Given the description of an element on the screen output the (x, y) to click on. 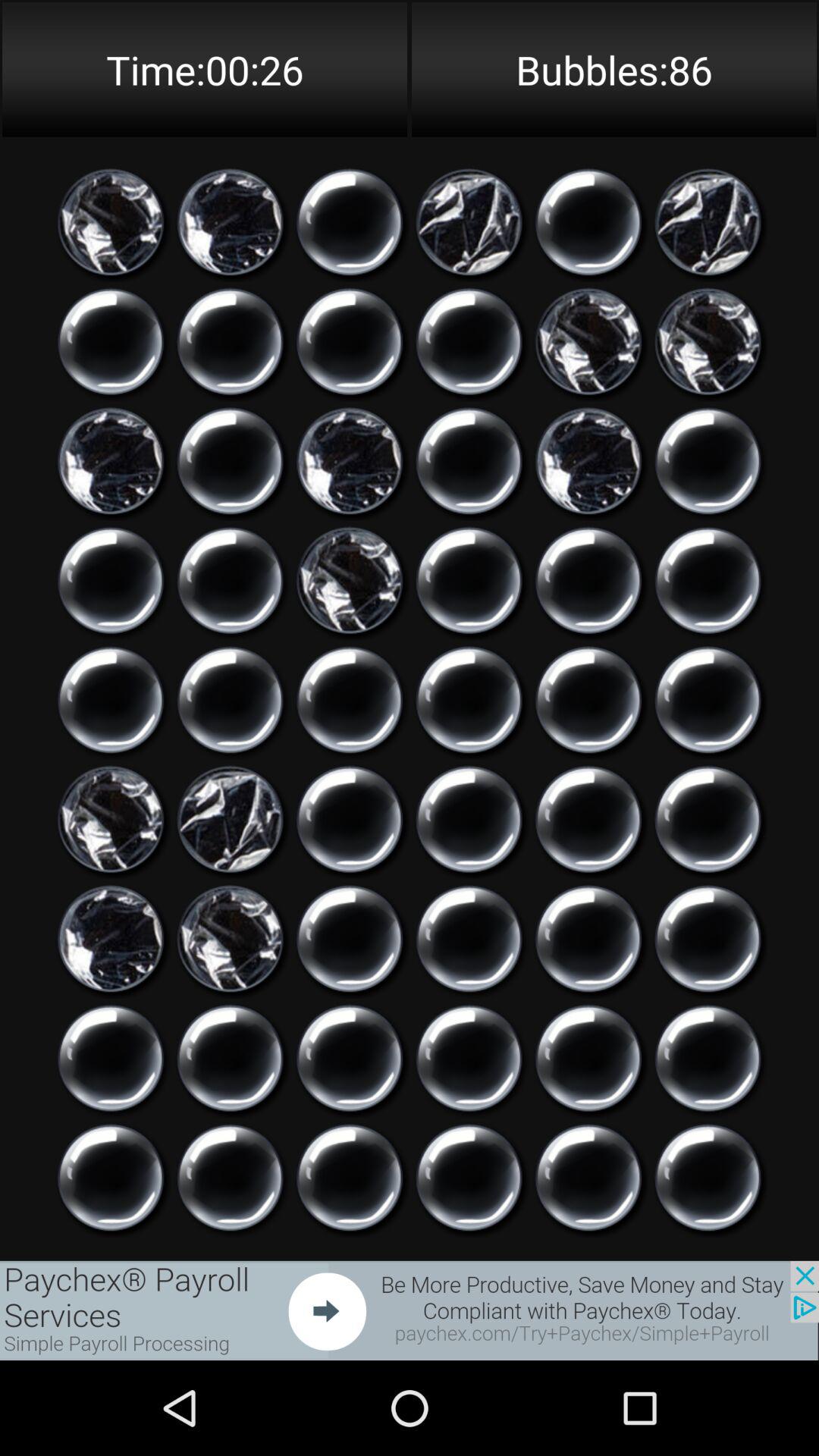
click bubble (349, 819)
